Given the description of an element on the screen output the (x, y) to click on. 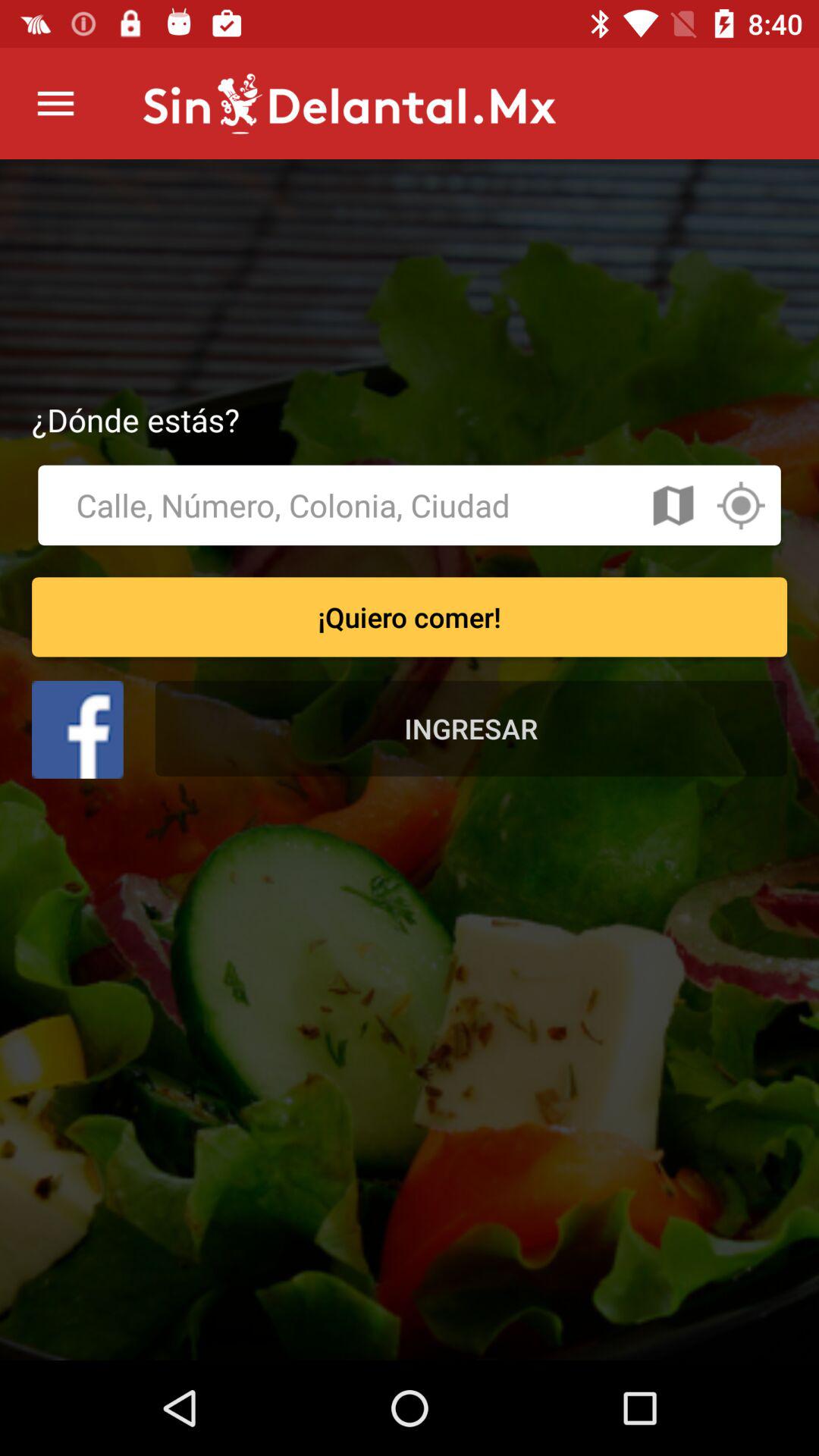
facebook option (77, 729)
